Given the description of an element on the screen output the (x, y) to click on. 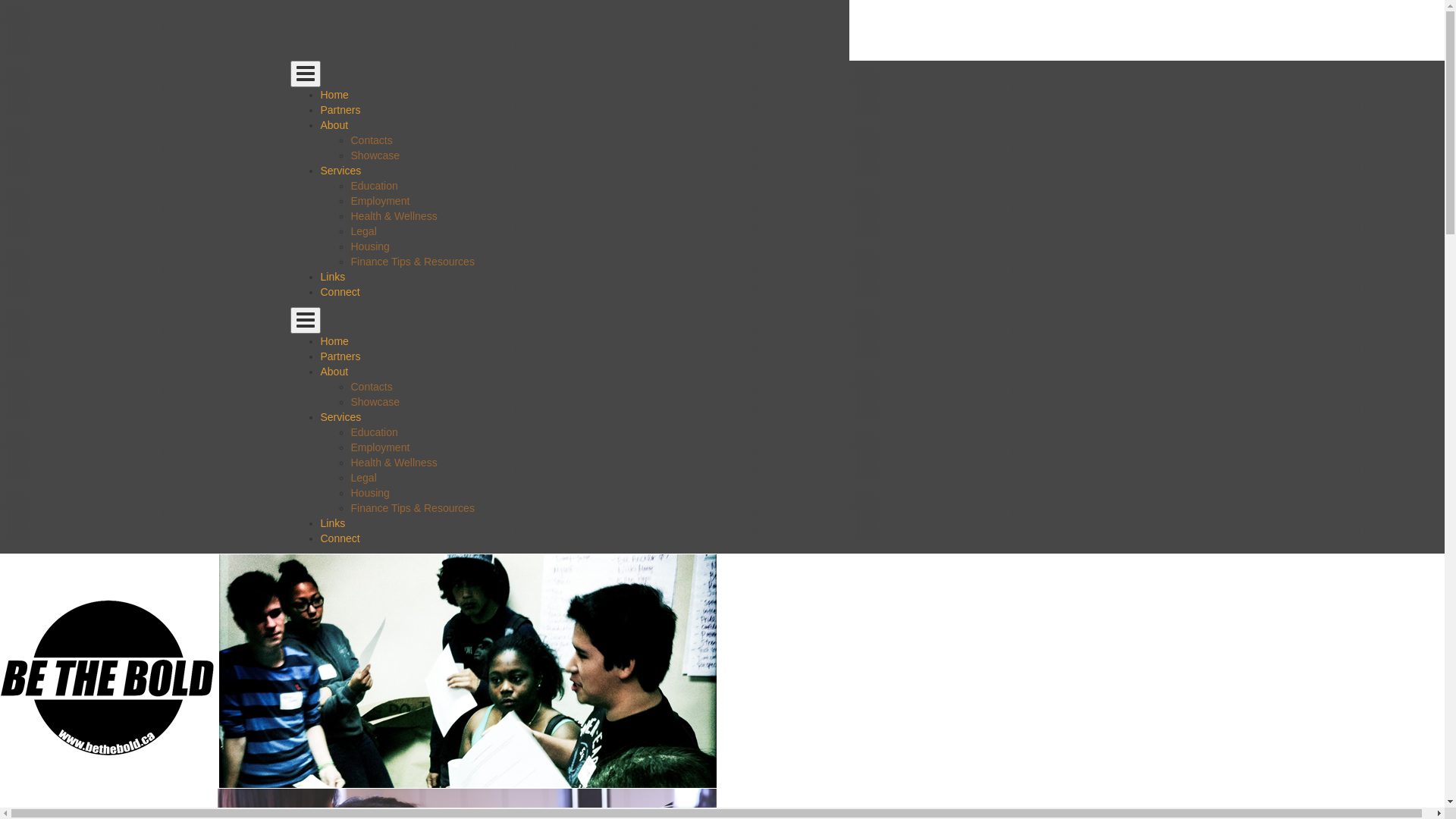
Health & Wellness Element type: text (393, 462)
Legal Element type: text (363, 477)
Partners Element type: text (340, 109)
About Element type: text (334, 371)
Links Element type: text (332, 276)
Finance Tips & Resources Element type: text (411, 261)
Services Element type: text (340, 170)
Legal Element type: text (363, 231)
Employment Element type: text (379, 200)
Toggle navigation Element type: text (304, 73)
Showcase Element type: text (374, 155)
Home Element type: text (334, 341)
Contacts Element type: text (371, 140)
Services Element type: text (340, 417)
Showcase Element type: text (374, 401)
Housing Element type: text (369, 246)
Links Element type: text (332, 523)
Toggle navigation Element type: text (304, 320)
Employment Element type: text (379, 447)
Education Element type: text (373, 432)
Contacts Element type: text (371, 386)
Finance Tips & Resources Element type: text (411, 508)
Health & Wellness Element type: text (393, 216)
Home Element type: text (334, 94)
Connect Element type: text (339, 291)
About Element type: text (334, 125)
Education Element type: text (373, 185)
Partners Element type: text (340, 356)
Housing Element type: text (369, 492)
Connect Element type: text (339, 538)
